Given the description of an element on the screen output the (x, y) to click on. 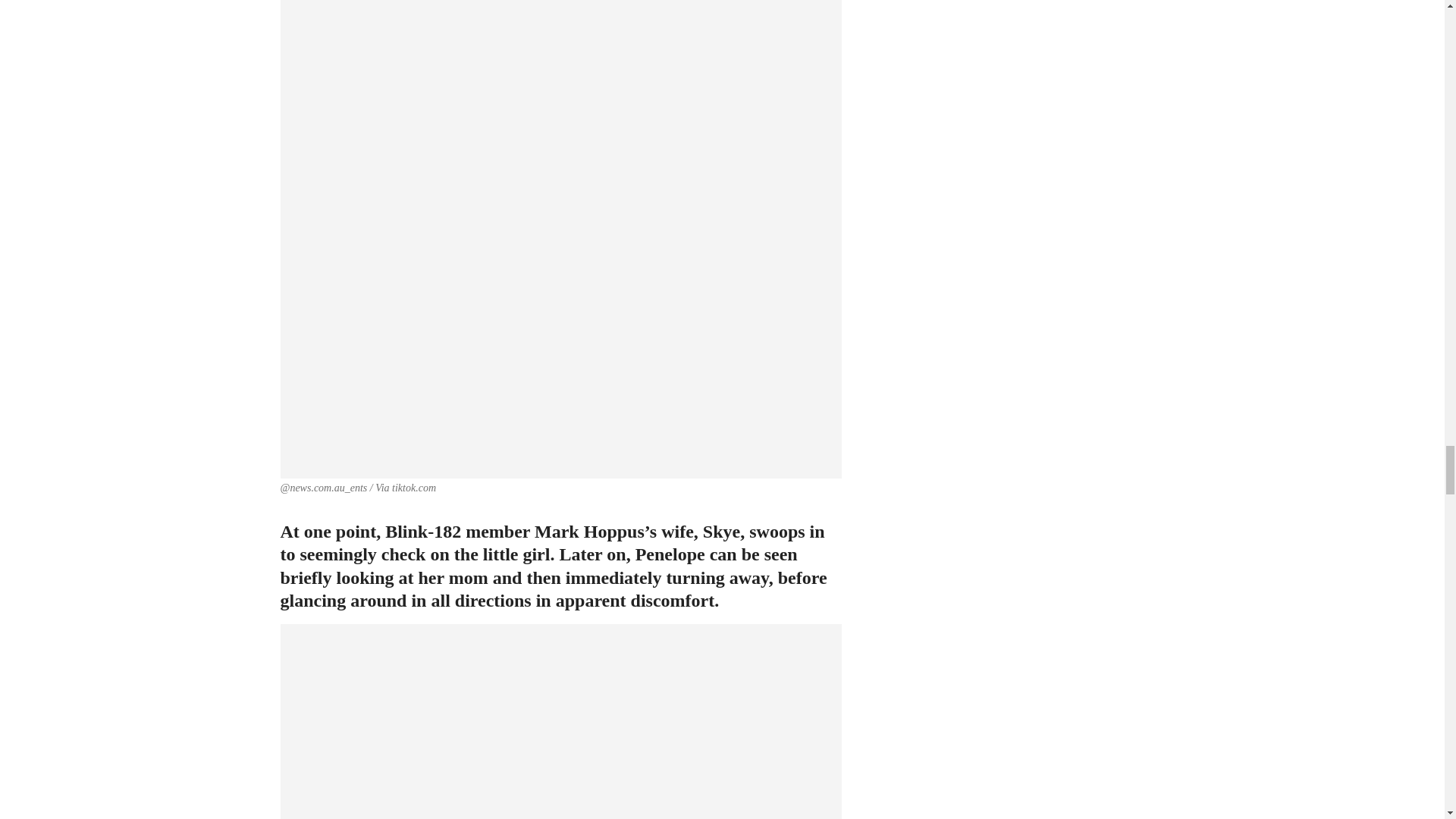
tiktok.com (413, 487)
